Given the description of an element on the screen output the (x, y) to click on. 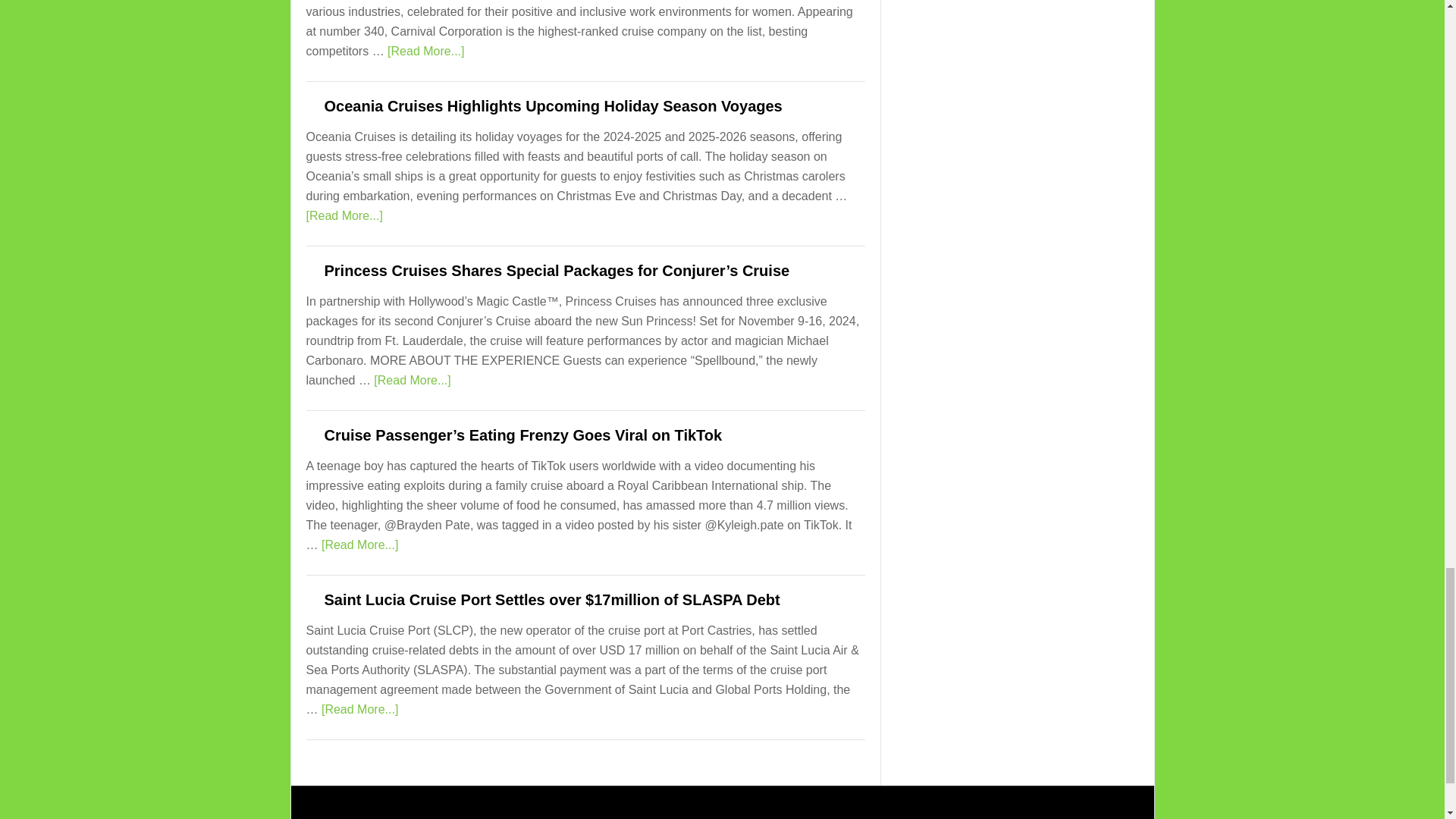
Oceania Cruises Highlights Upcoming Holiday Season Voyages (553, 105)
